Given the description of an element on the screen output the (x, y) to click on. 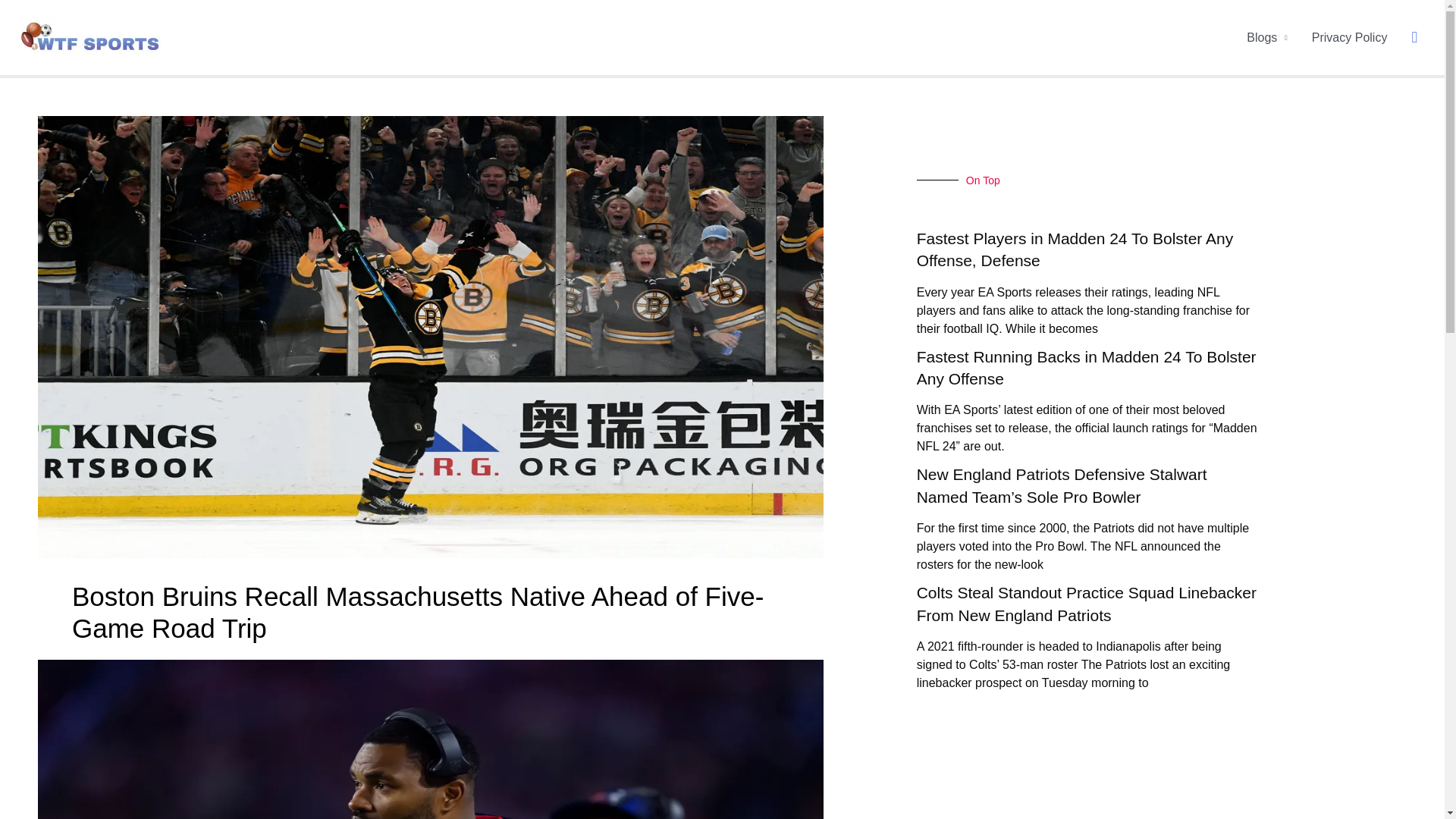
Blogs (1267, 37)
Fastest Players in Madden 24 To Bolster Any Offense, Defense (1075, 249)
Fastest Running Backs in Madden 24 To Bolster Any Offense (1086, 367)
Privacy Policy (1349, 37)
